Given the description of an element on the screen output the (x, y) to click on. 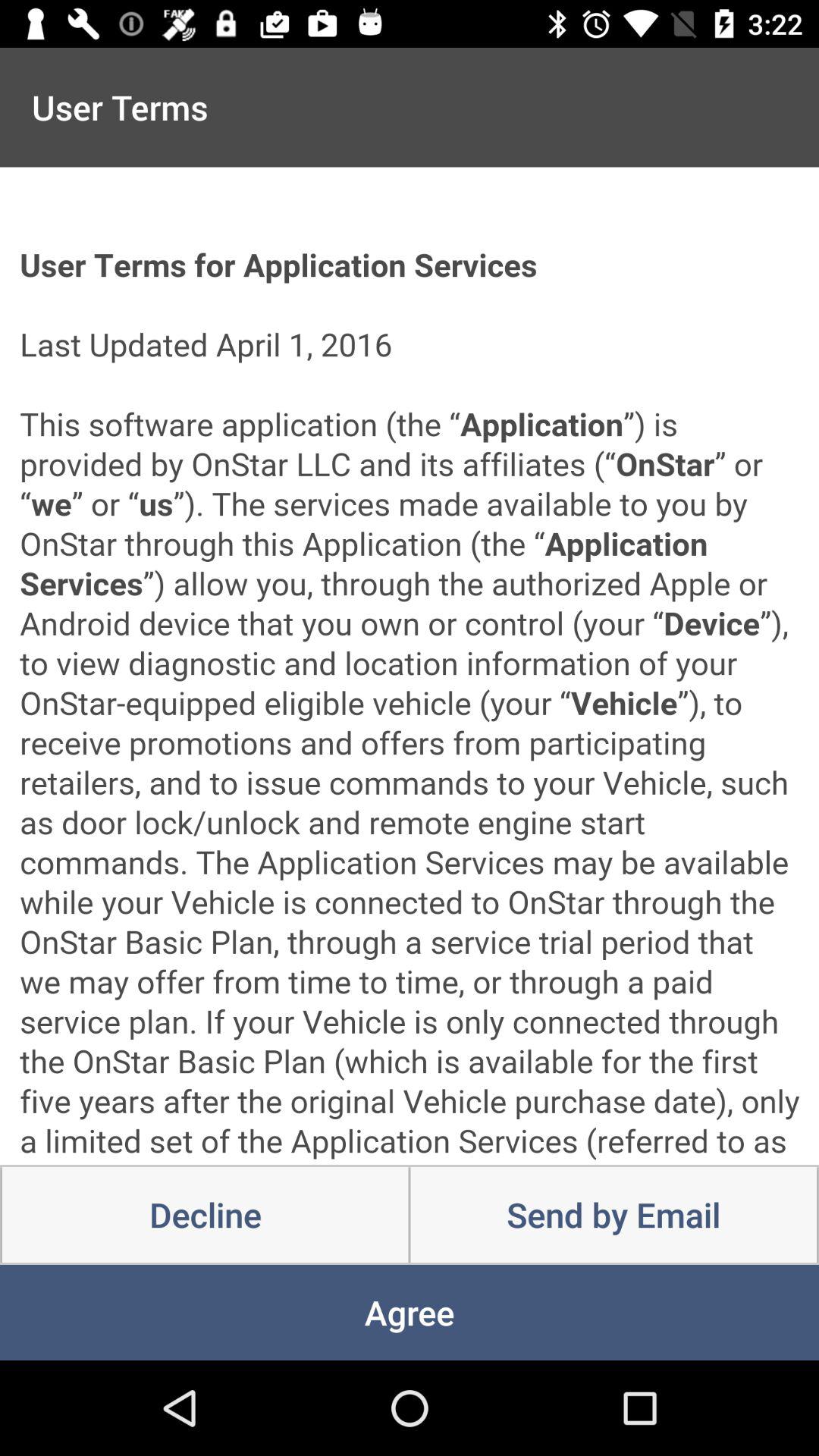
swipe until send by email (613, 1214)
